Given the description of an element on the screen output the (x, y) to click on. 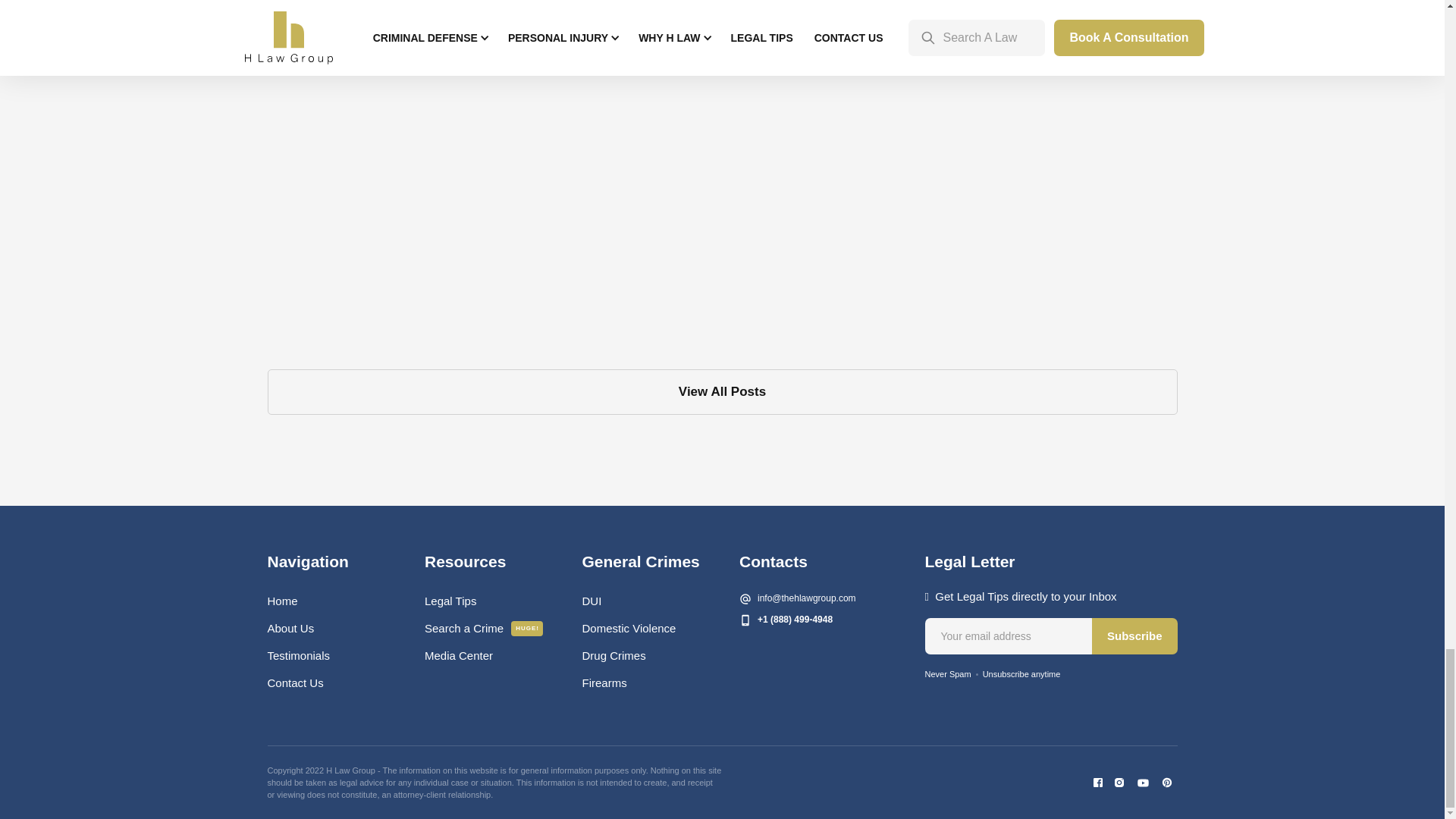
Subscribe (1134, 636)
